Given the description of an element on the screen output the (x, y) to click on. 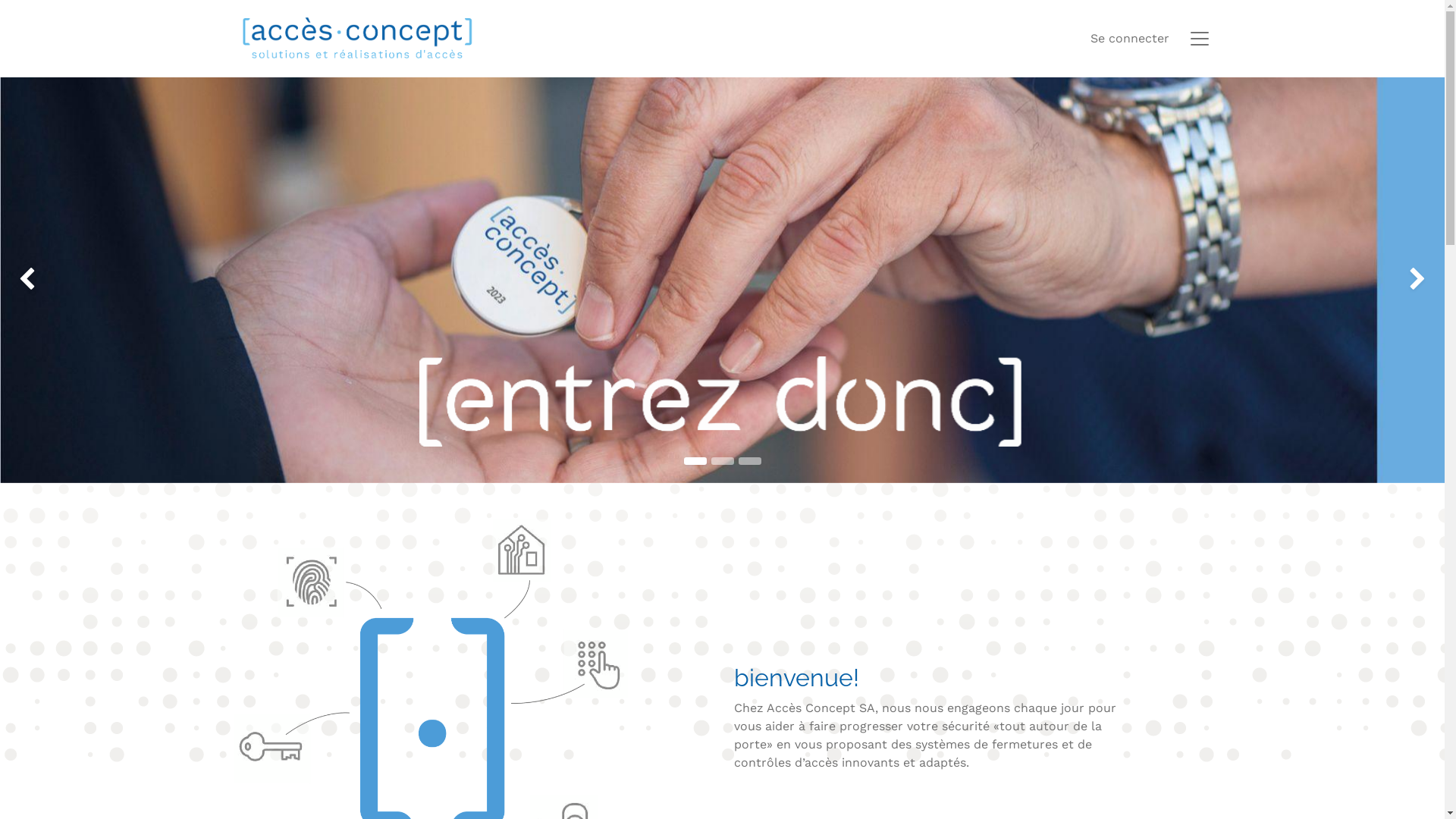
Se connecter Element type: text (1129, 38)
Suivant Element type: text (1386, 280)
